Given the description of an element on the screen output the (x, y) to click on. 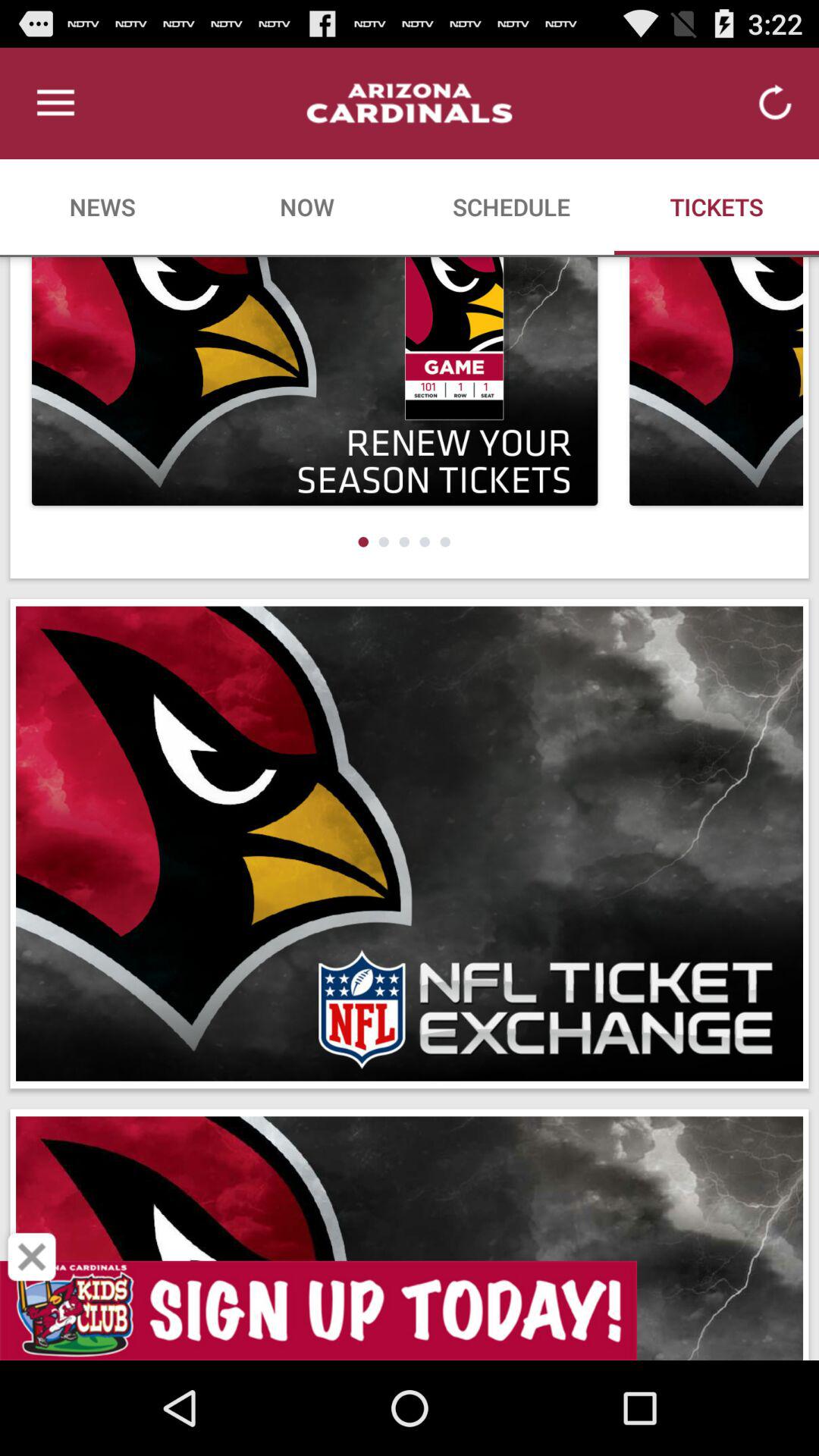
open icon above news item (55, 103)
